Given the description of an element on the screen output the (x, y) to click on. 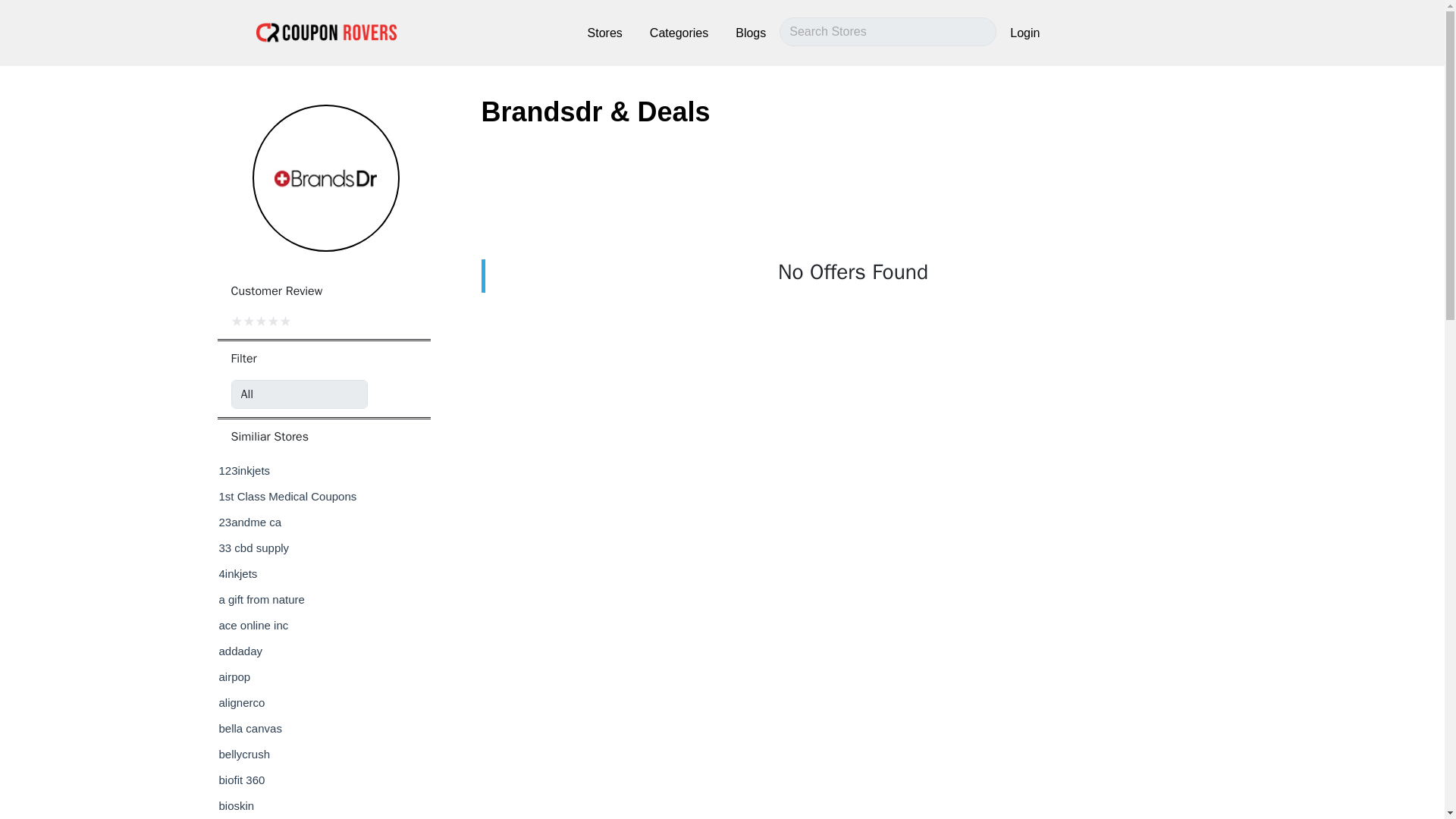
123inkjets (243, 470)
1st Class Medical Coupons (287, 495)
bellycrush (243, 753)
ace online inc (253, 625)
alignerco (241, 702)
bella canvas (249, 727)
23andme ca (249, 521)
a gift from nature (261, 599)
bioskin (235, 805)
Categories (678, 33)
